Given the description of an element on the screen output the (x, y) to click on. 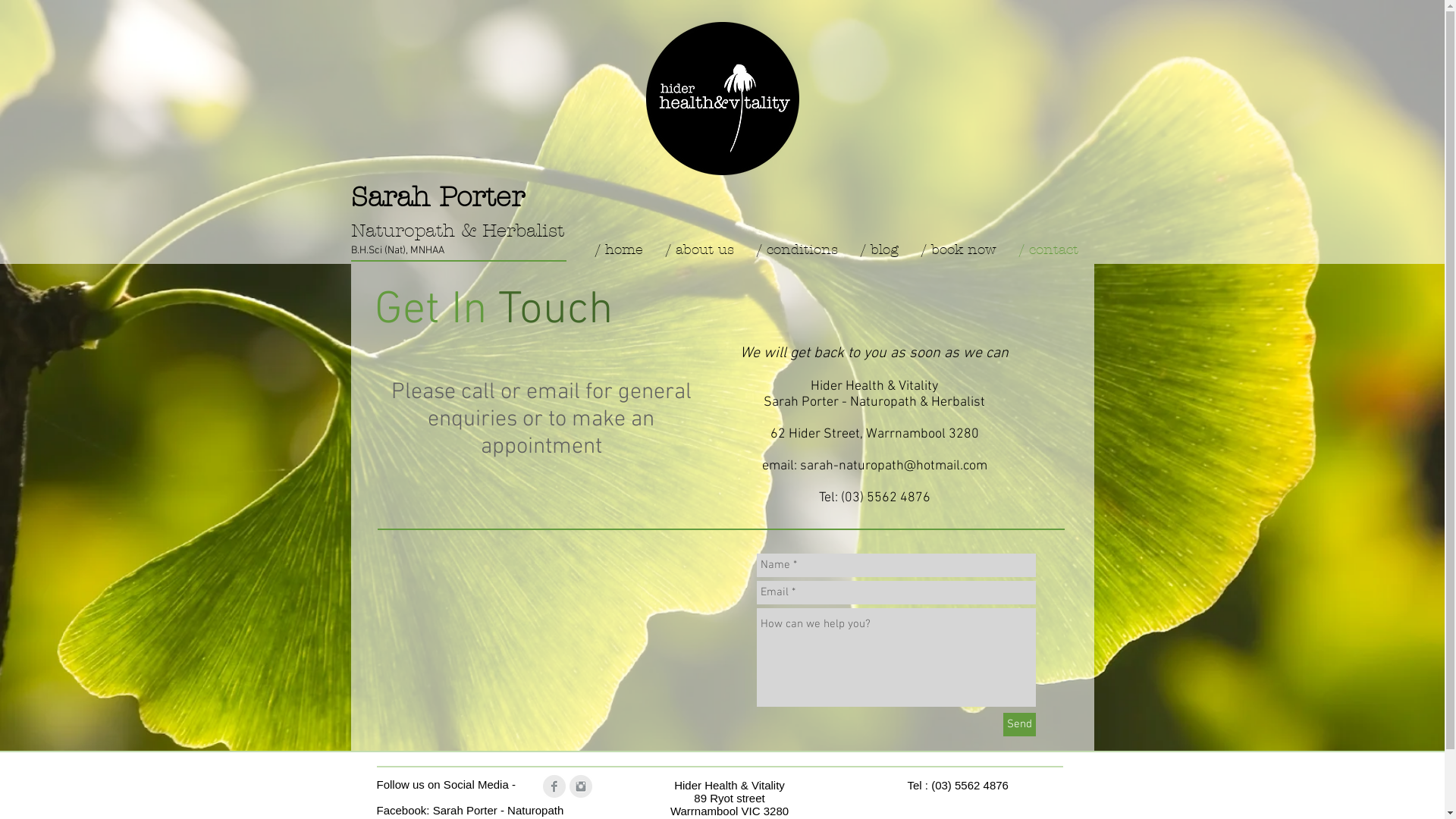
/ book now Element type: text (958, 249)
Send Element type: text (1018, 724)
/ contact Element type: text (1047, 249)
/ home Element type: text (618, 249)
sarah-naturopath@hotmail.com Element type: text (892, 465)
Logo (black).png Element type: hover (722, 98)
/ blog Element type: text (879, 249)
/ conditions Element type: text (796, 249)
/ about us Element type: text (698, 249)
Google Maps Element type: hover (541, 644)
